Given the description of an element on the screen output the (x, y) to click on. 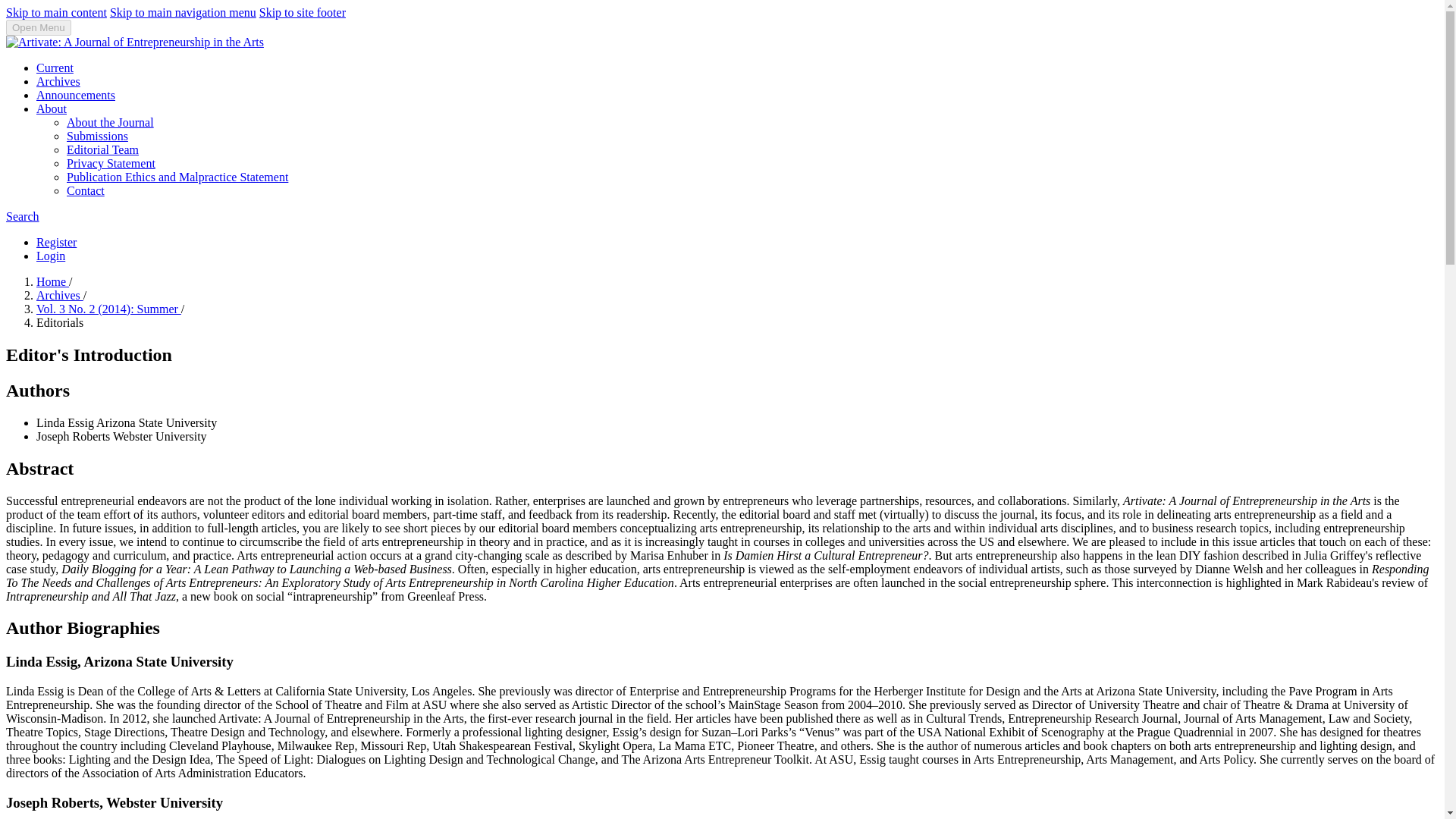
Privacy Statement (110, 163)
Announcements (75, 94)
Home (52, 281)
About (51, 108)
Skip to main navigation menu (183, 11)
Archives (58, 81)
About the Journal (110, 122)
Current (55, 67)
Publication Ethics and Malpractice Statement (177, 176)
Search (22, 215)
